Given the description of an element on the screen output the (x, y) to click on. 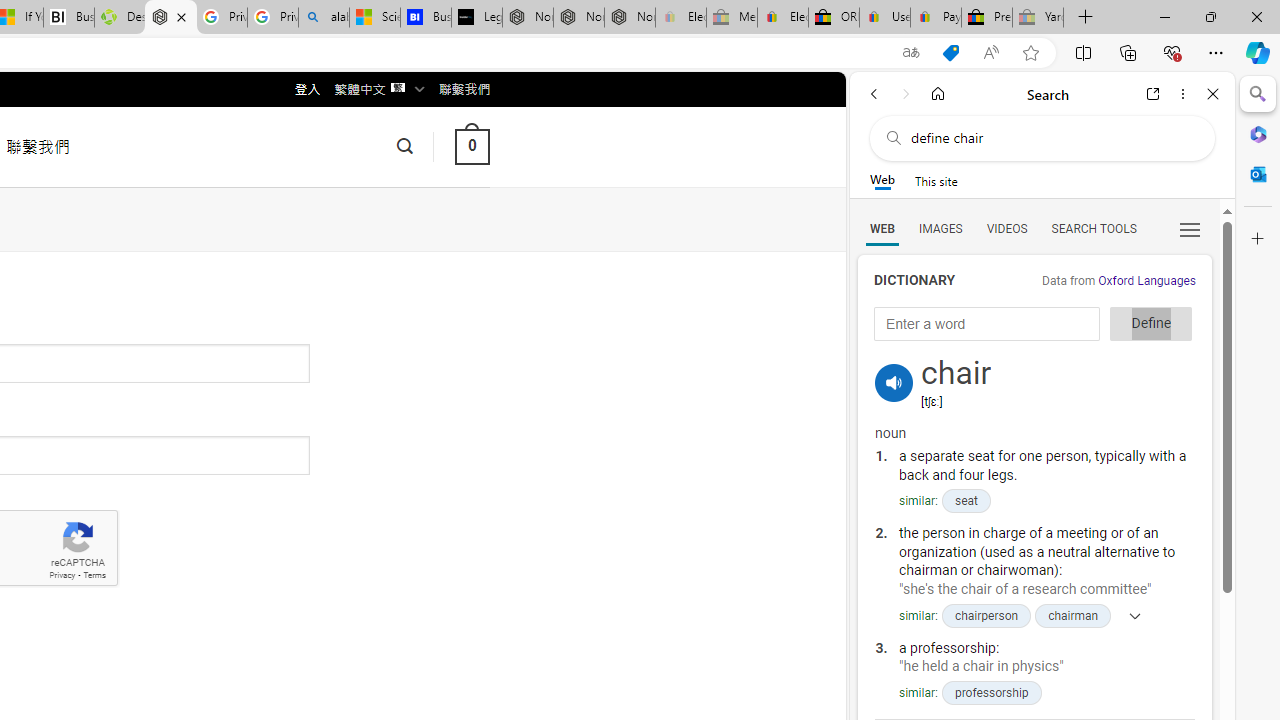
WEB   (882, 228)
